Given the description of an element on the screen output the (x, y) to click on. 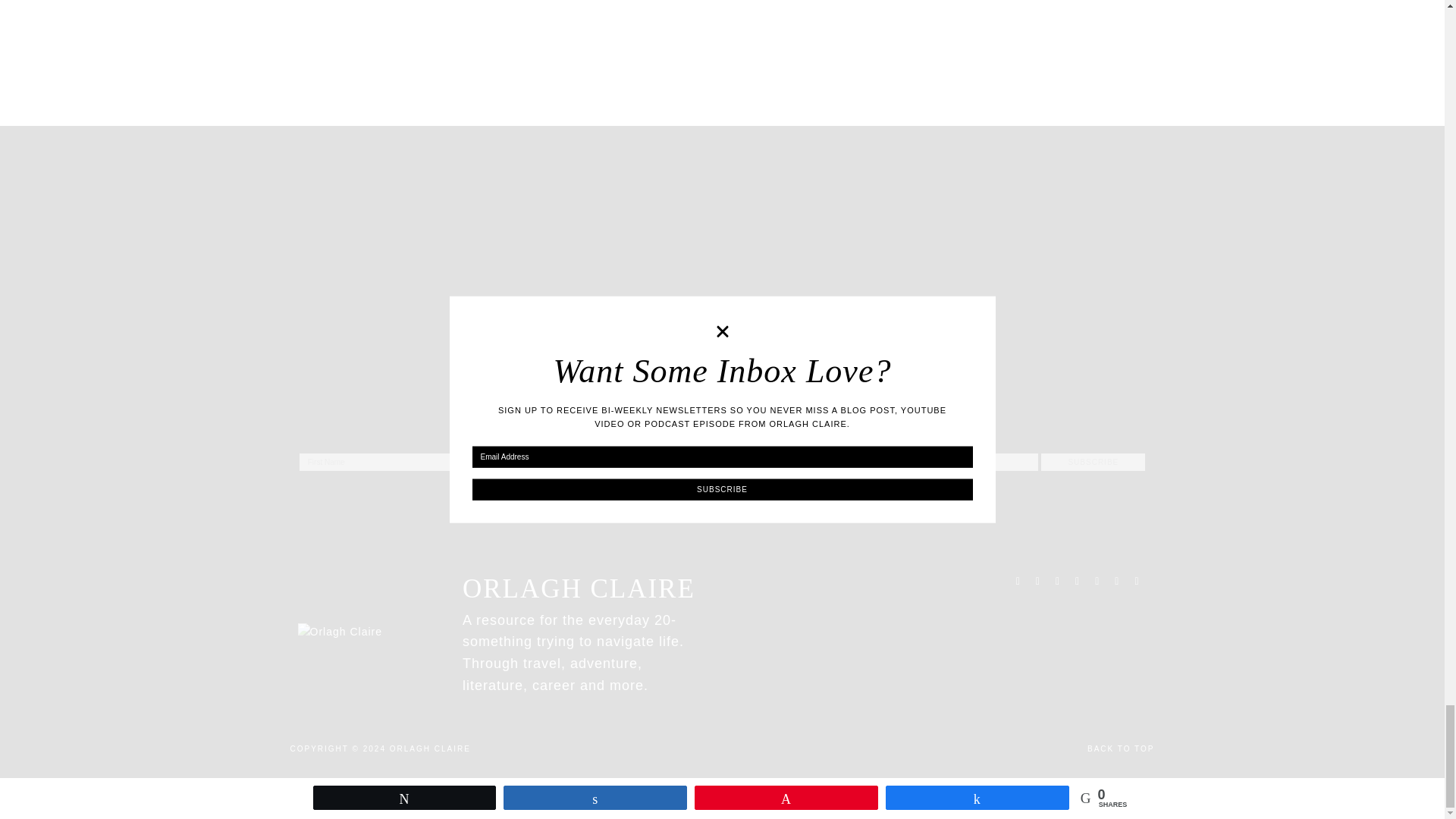
Orlagh Claire (430, 748)
Subscribe (1092, 461)
